Given the description of an element on the screen output the (x, y) to click on. 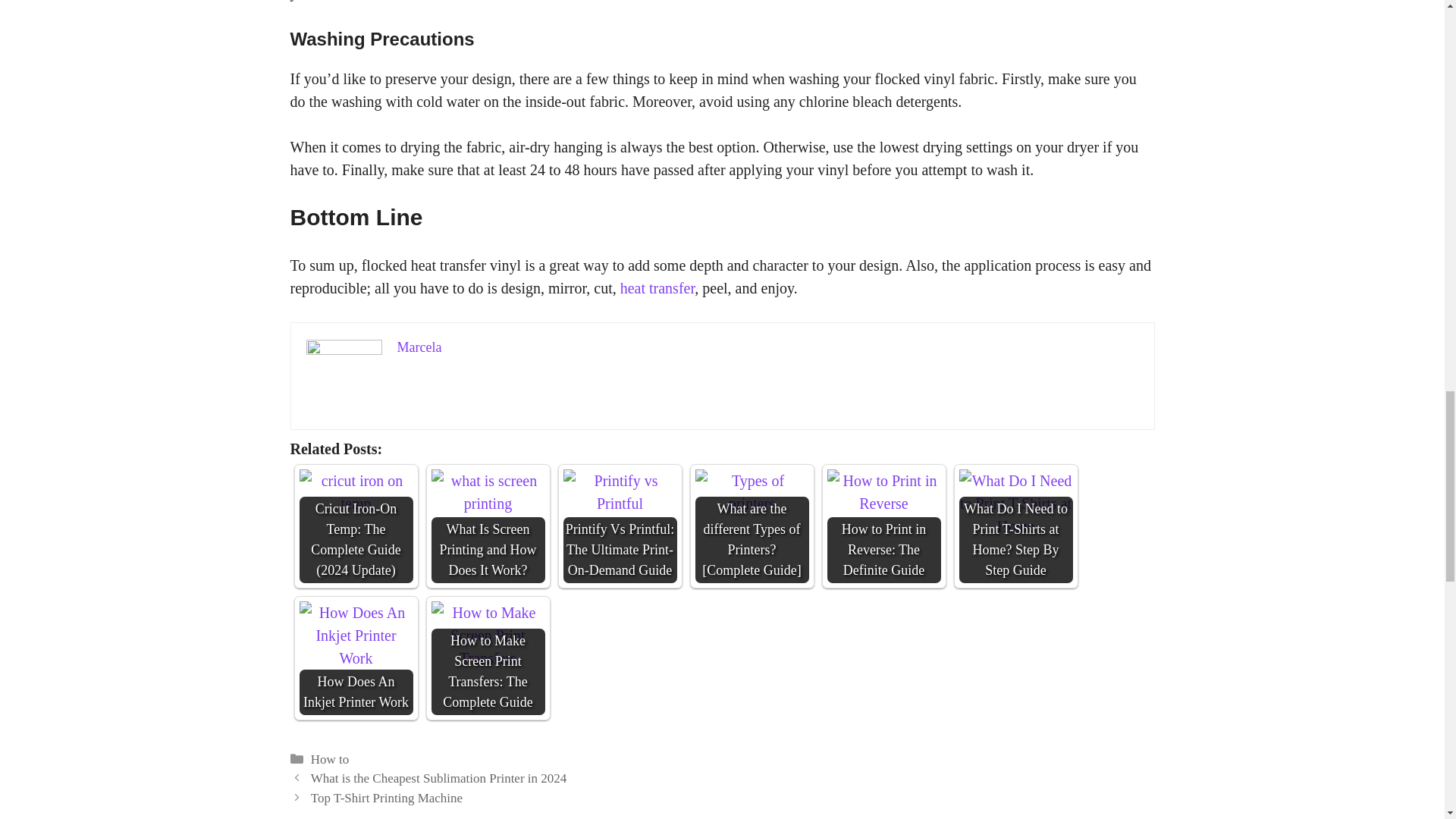
How Does An Inkjet Printer Work (355, 635)
What Is Screen Printing and How Does It Work? (487, 526)
How to Make Screen Print Transfers: The Complete Guide (487, 657)
Printify Vs Printful: The Ultimate Print-On-Demand Guide (619, 492)
What Is Screen Printing and How Does It Work? (487, 492)
How to Print in Reverse: The Definite Guide (883, 526)
Top T-Shirt Printing Machine (387, 798)
What Do I Need to Print T-Shirts at Home? Step By Step Guide (1014, 503)
How to Print in Reverse: The Definite Guide (883, 492)
Printify Vs Printful: The Ultimate Print-On-Demand Guide (619, 526)
